Given the description of an element on the screen output the (x, y) to click on. 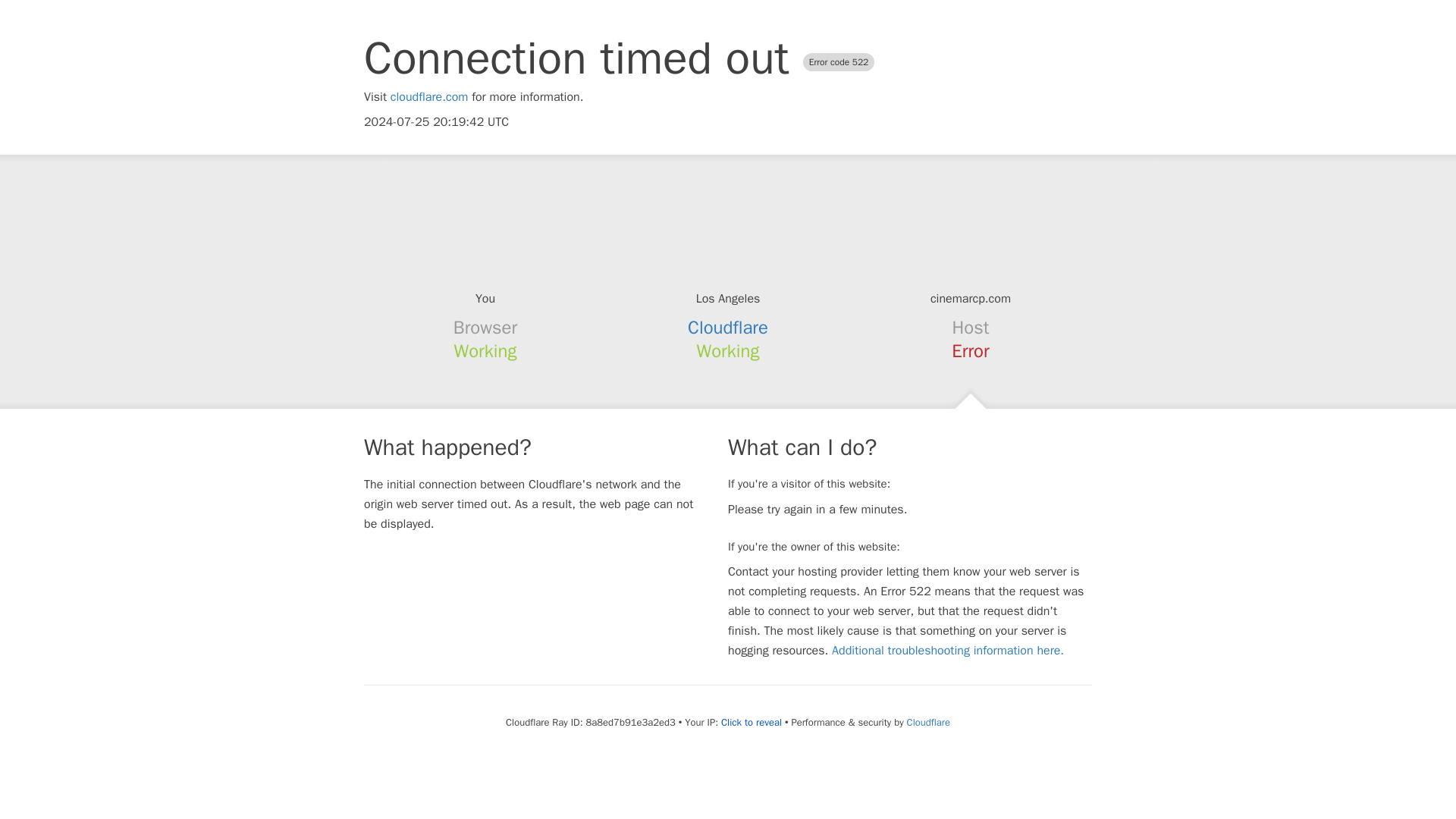
cloudflare.com (429, 96)
Additional troubleshooting information here. (947, 650)
Click to reveal (750, 722)
Cloudflare (727, 327)
Cloudflare (928, 721)
